Given the description of an element on the screen output the (x, y) to click on. 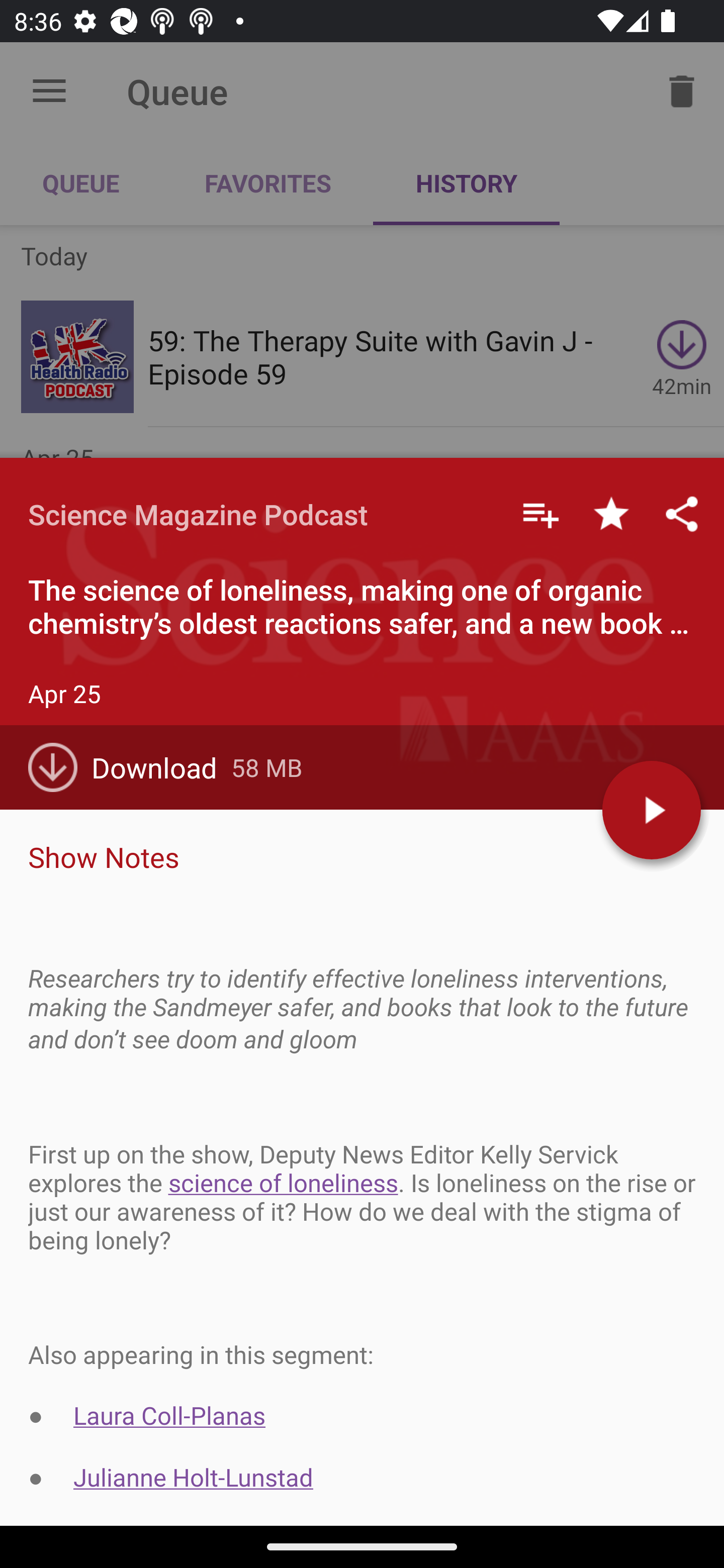
Download (129, 767)
